Given the description of an element on the screen output the (x, y) to click on. 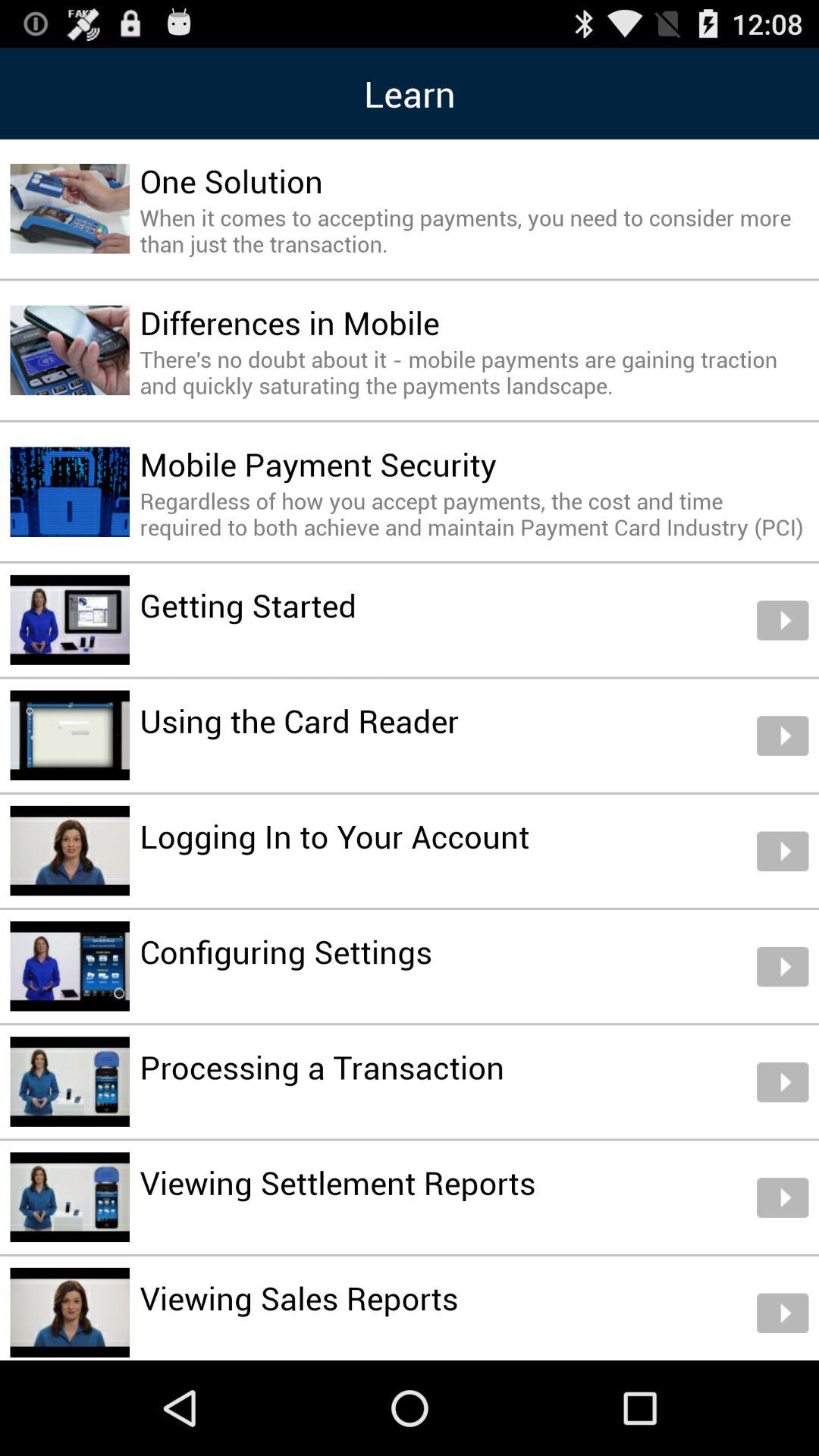
tap the when it comes item (473, 230)
